Given the description of an element on the screen output the (x, y) to click on. 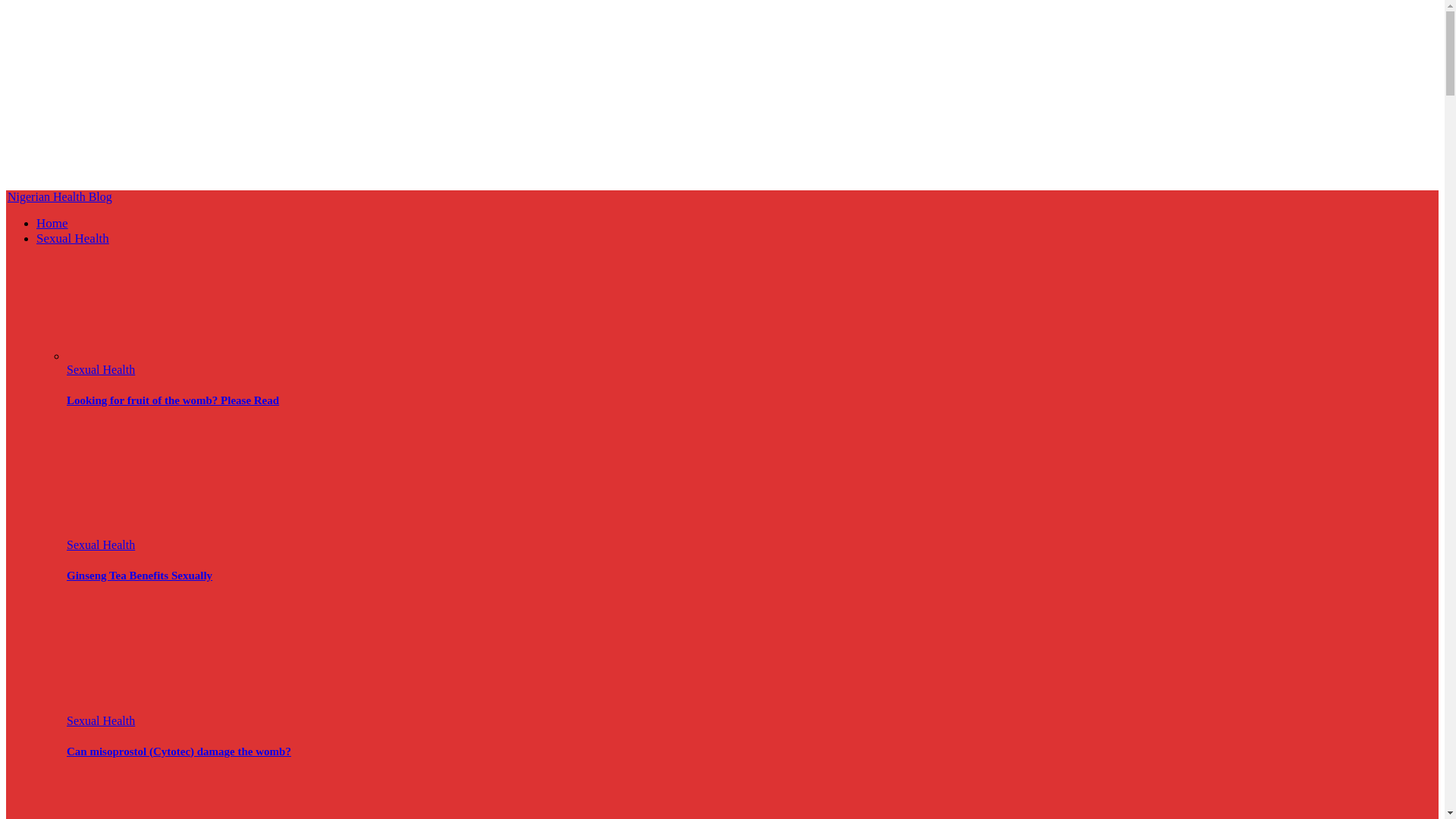
Sexual Health (100, 369)
Sexual Health (100, 544)
Looking for fruit of the womb? Please Read (148, 355)
Sexual Health (100, 720)
Looking for fruit of the womb? Please Read (172, 399)
Ginseng Tea Benefits Sexually (148, 478)
Nigerian Health Blog (59, 196)
Sexual Health (72, 237)
Home (52, 223)
7 foods to avoid with BV (148, 796)
Looking for fruit of the womb? Please Read (172, 399)
Ginseng Tea Benefits Sexually (139, 575)
Ginseng Tea Benefits Sexually (148, 530)
Ginseng Tea Benefits Sexually (139, 575)
Looking for fruit of the womb? Please Read (148, 303)
